Given the description of an element on the screen output the (x, y) to click on. 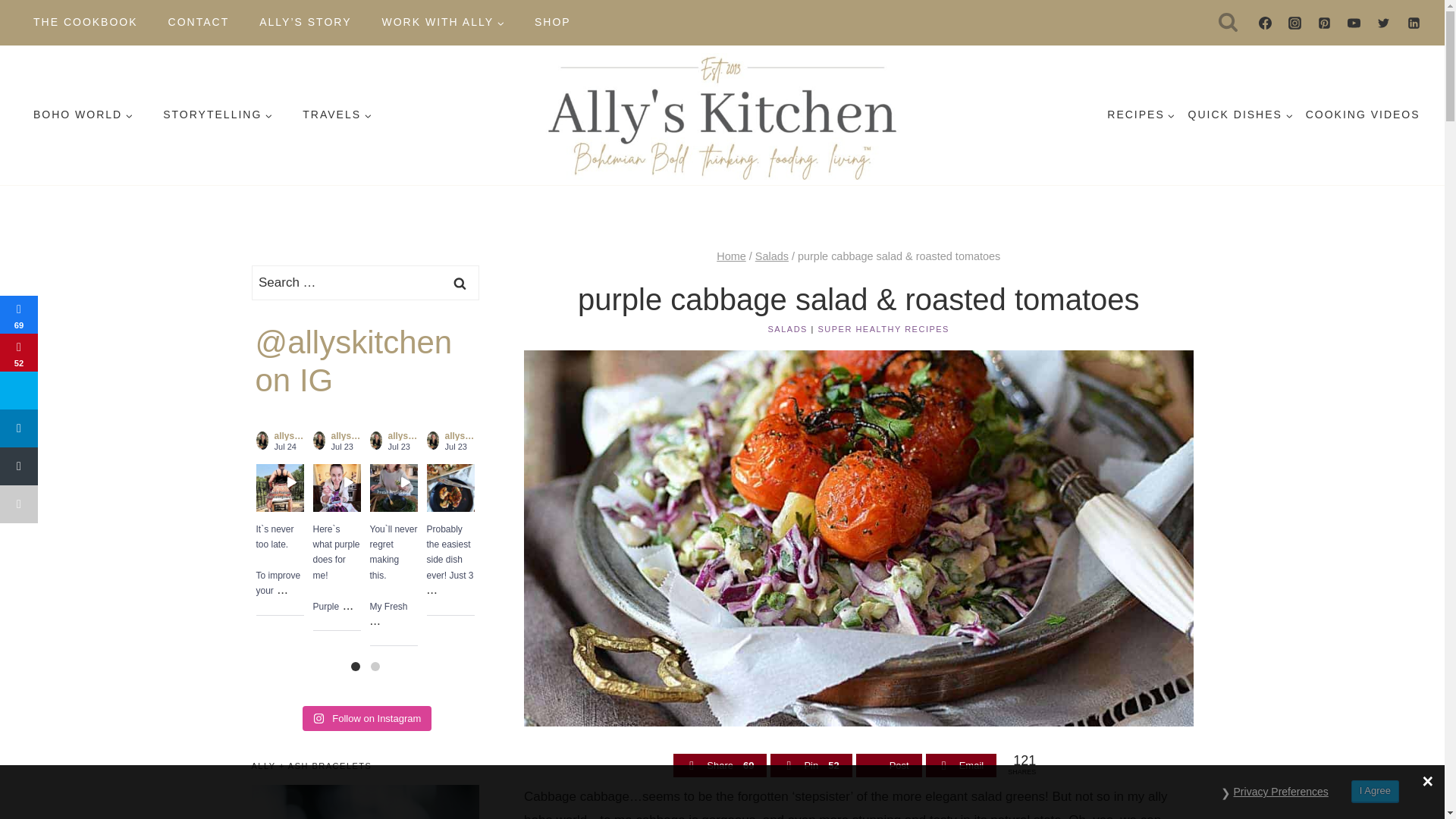
STORYTELLING (217, 115)
SHOP (552, 22)
Search (460, 282)
THE COOKBOOK (84, 22)
Search (460, 282)
TRAVELS (336, 115)
CONTACT (198, 22)
BOHO WORLD (82, 115)
WORK WITH ALLY (442, 22)
RECIPES (1140, 115)
